Given the description of an element on the screen output the (x, y) to click on. 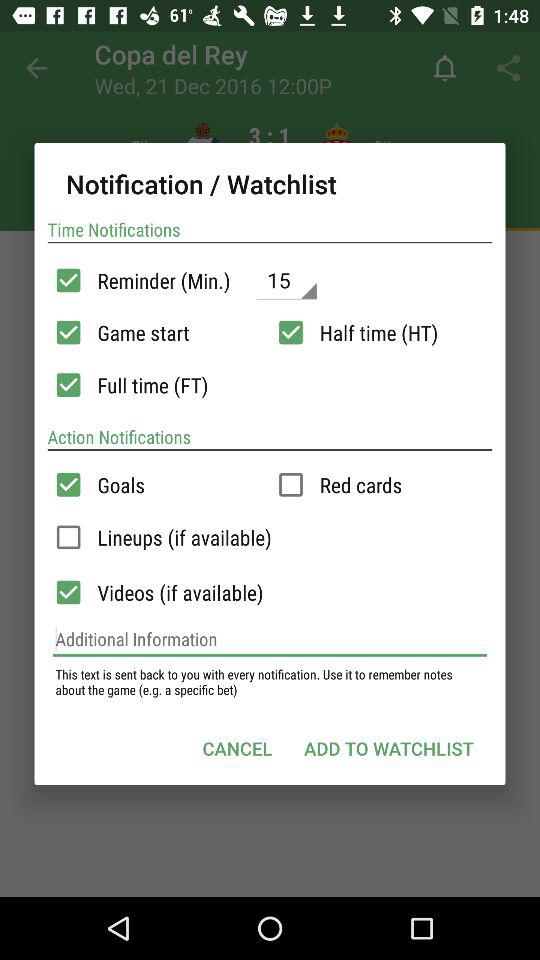
check box for full time (68, 385)
